Given the description of an element on the screen output the (x, y) to click on. 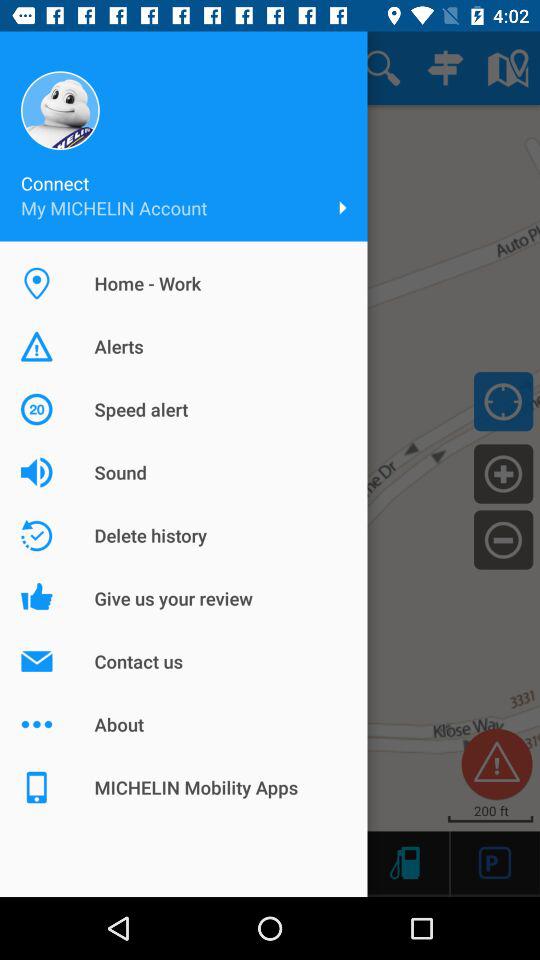
go to gas stations (404, 862)
